Given the description of an element on the screen output the (x, y) to click on. 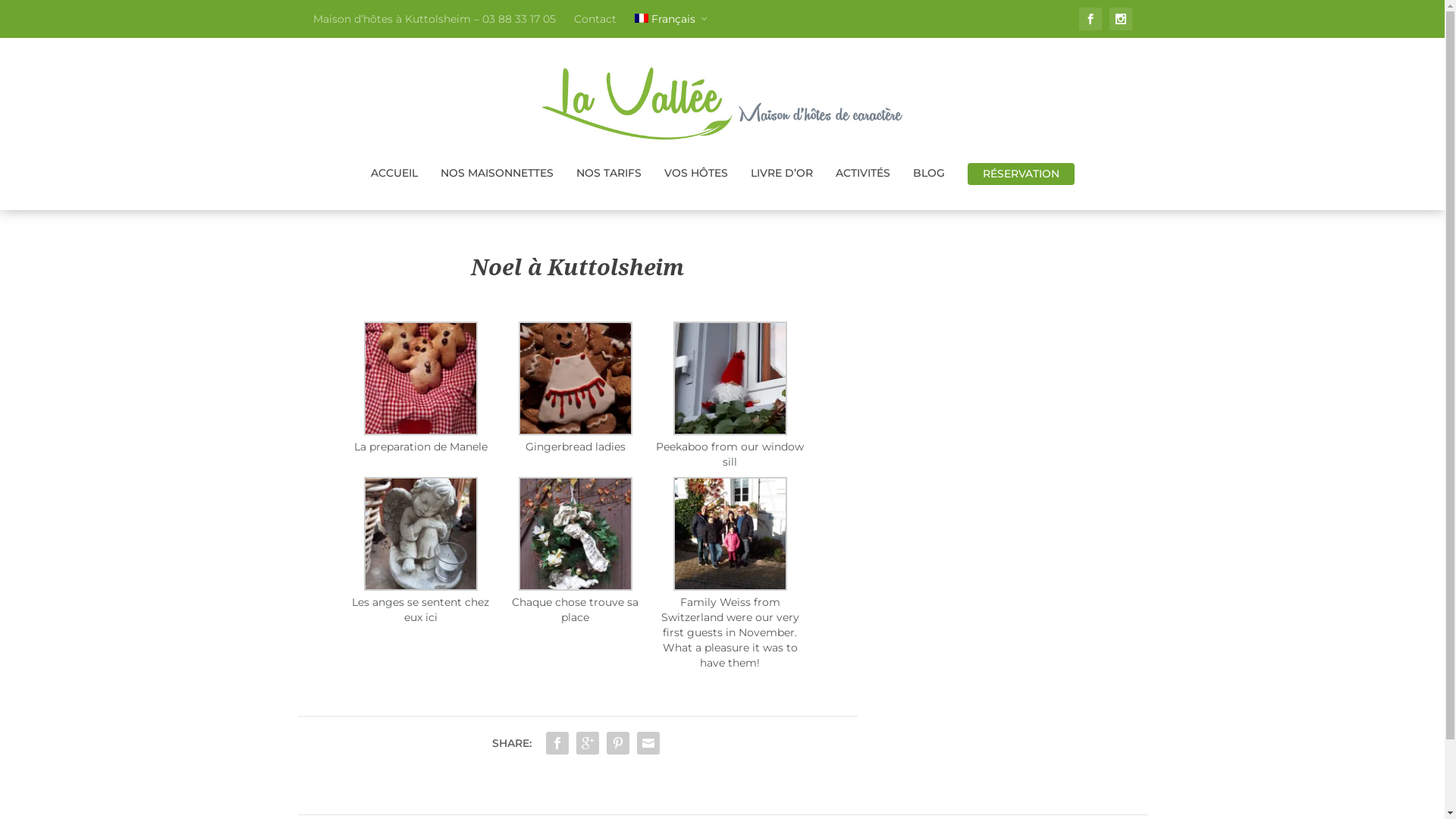
NOS TARIFS Element type: text (608, 178)
Contact Element type: text (594, 18)
NOS MAISONNETTES Element type: text (495, 178)
ACCUEIL Element type: text (393, 178)
BLOG Element type: text (928, 178)
